Given the description of an element on the screen output the (x, y) to click on. 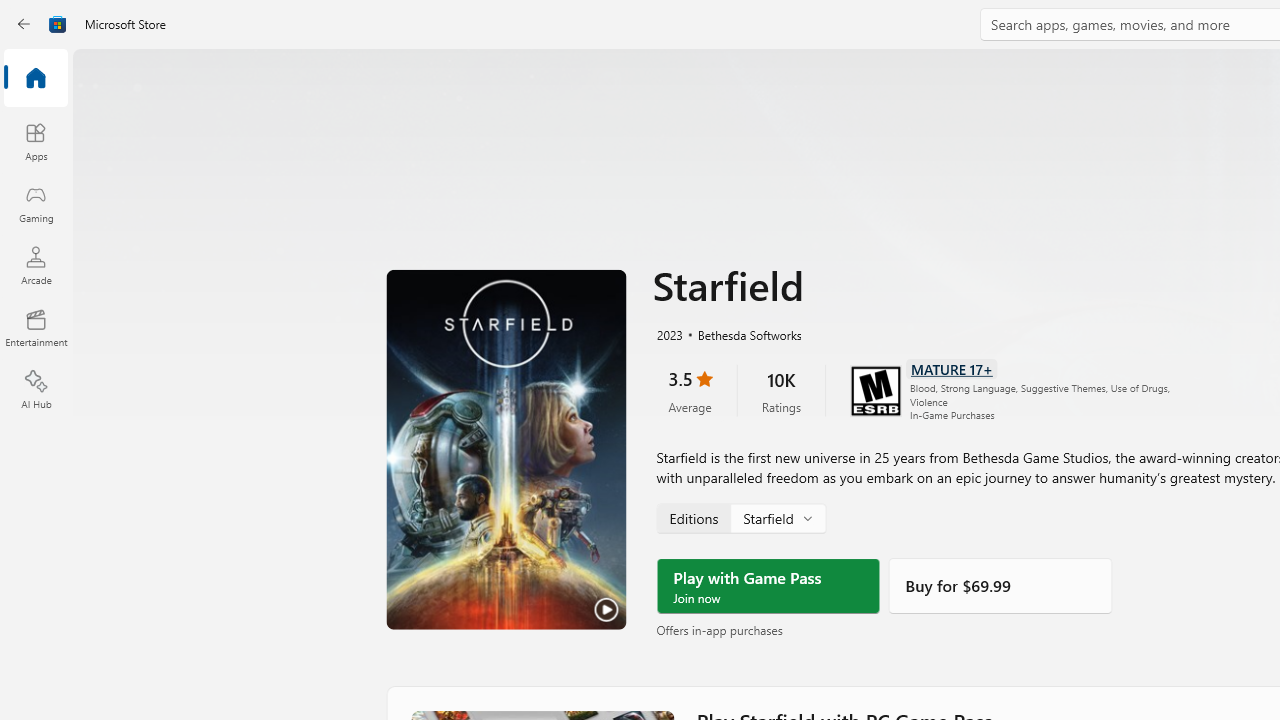
Home (35, 79)
Play with Game Pass (767, 586)
Back (24, 24)
Class: Image (58, 24)
Buy (1000, 586)
Bethesda Softworks (741, 333)
Apps (35, 141)
Play Trailer (505, 449)
Entertainment (35, 327)
AI Hub (35, 390)
3.5 stars. Click to skip to ratings and reviews (689, 389)
2023 (667, 333)
Gaming (35, 203)
Age rating: MATURE 17+. Click for more information. (951, 367)
Arcade (35, 265)
